Given the description of an element on the screen output the (x, y) to click on. 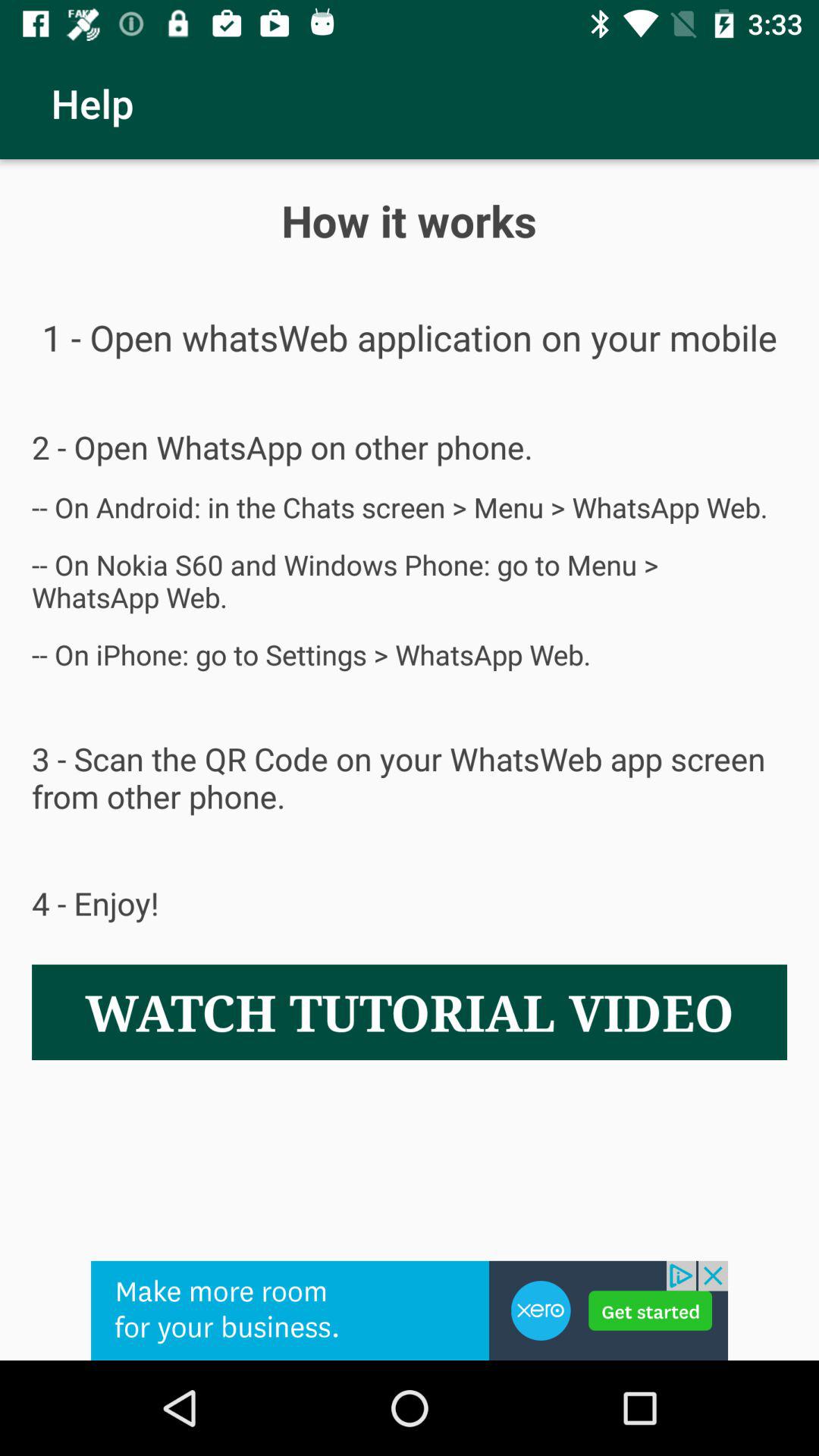
choose the selection (409, 1310)
